Given the description of an element on the screen output the (x, y) to click on. 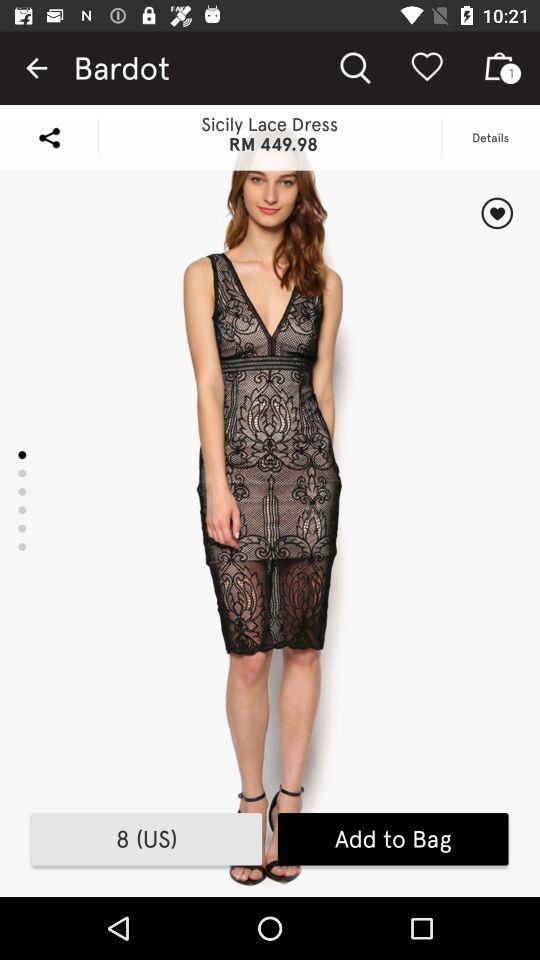
favorite the item (496, 213)
